Given the description of an element on the screen output the (x, y) to click on. 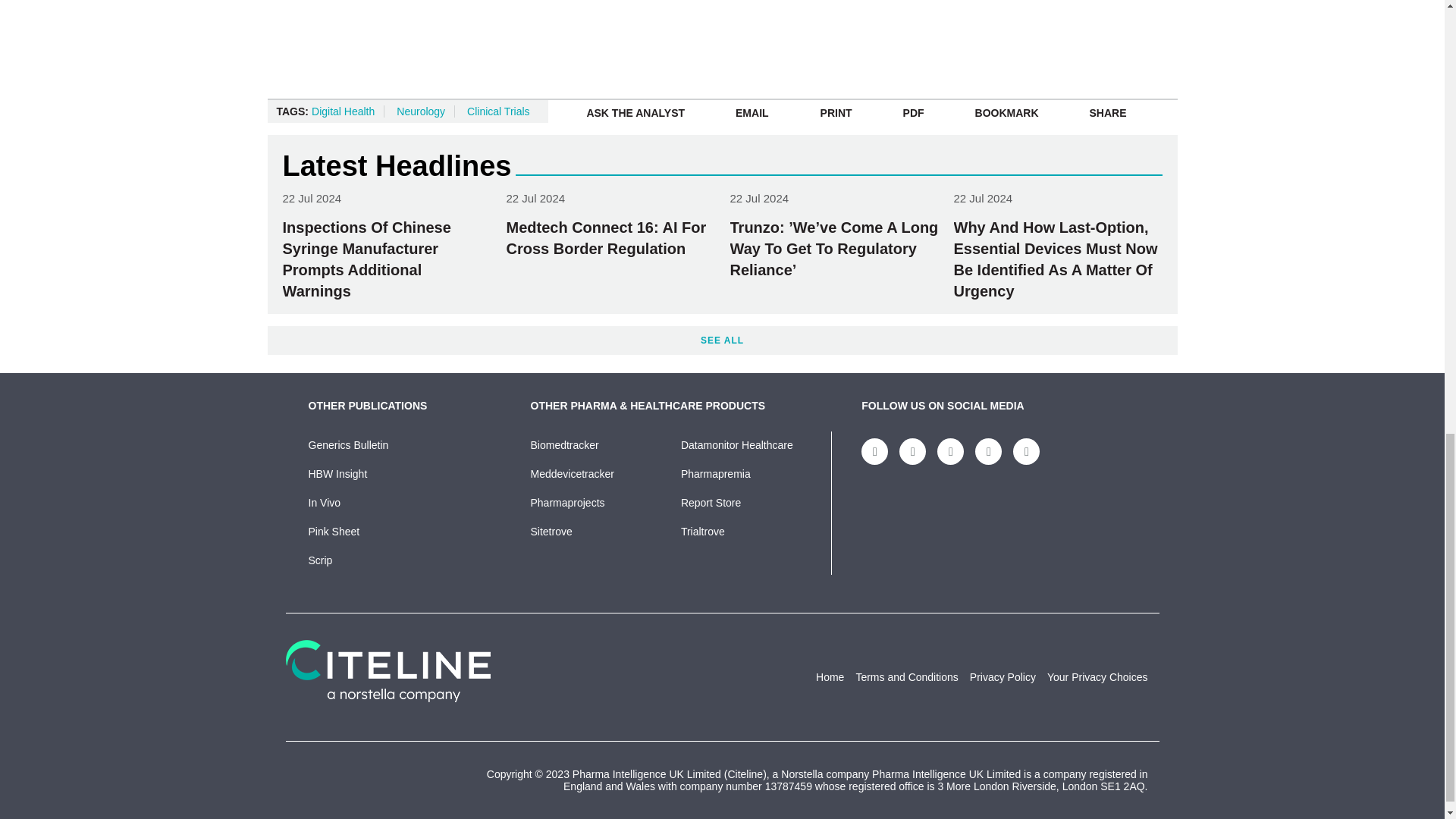
3rd party ad content (1070, 31)
